Given the description of an element on the screen output the (x, y) to click on. 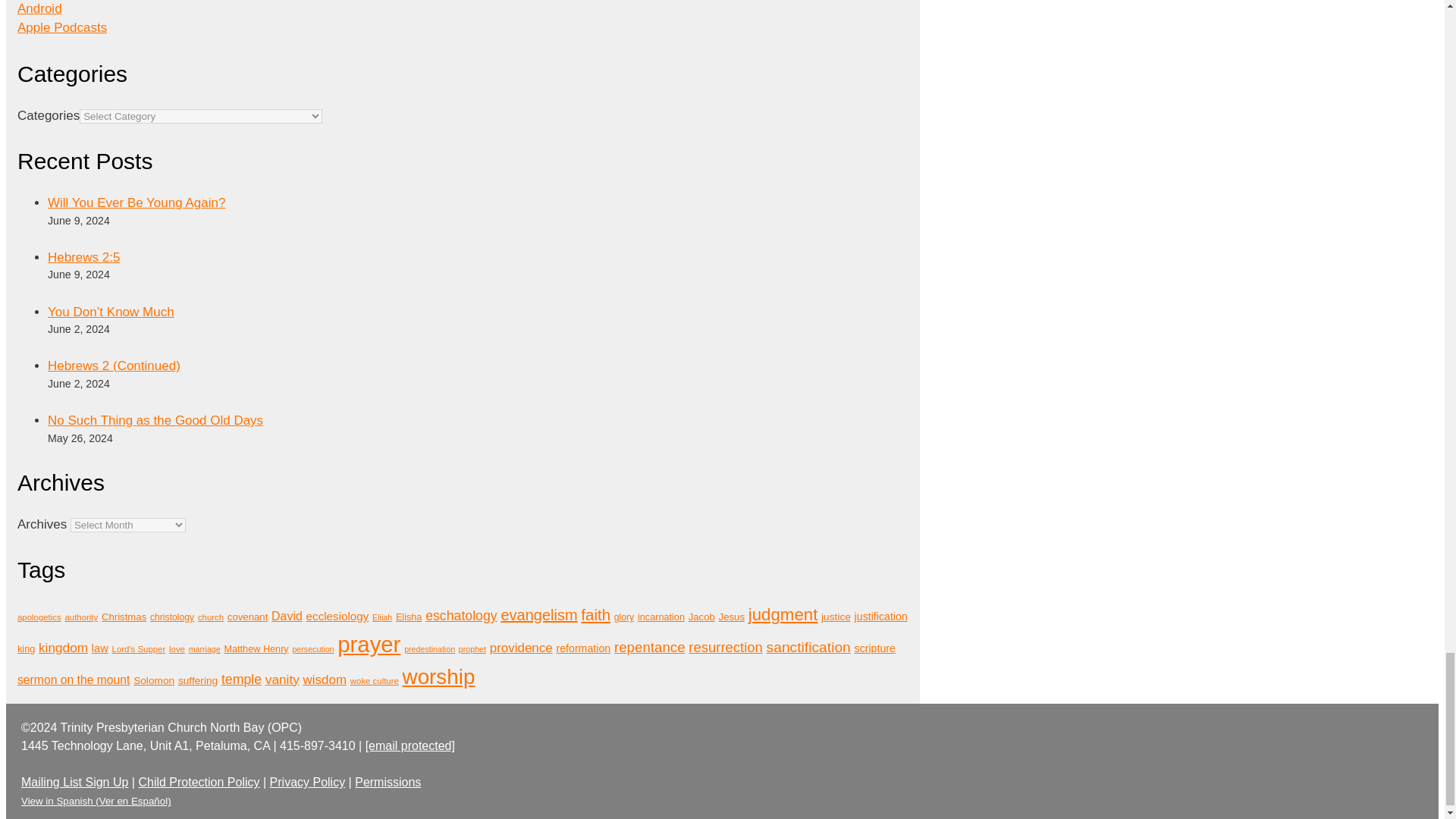
Subscribe on Apple Podcasts (61, 27)
Subscribe on Android (39, 8)
